Given the description of an element on the screen output the (x, y) to click on. 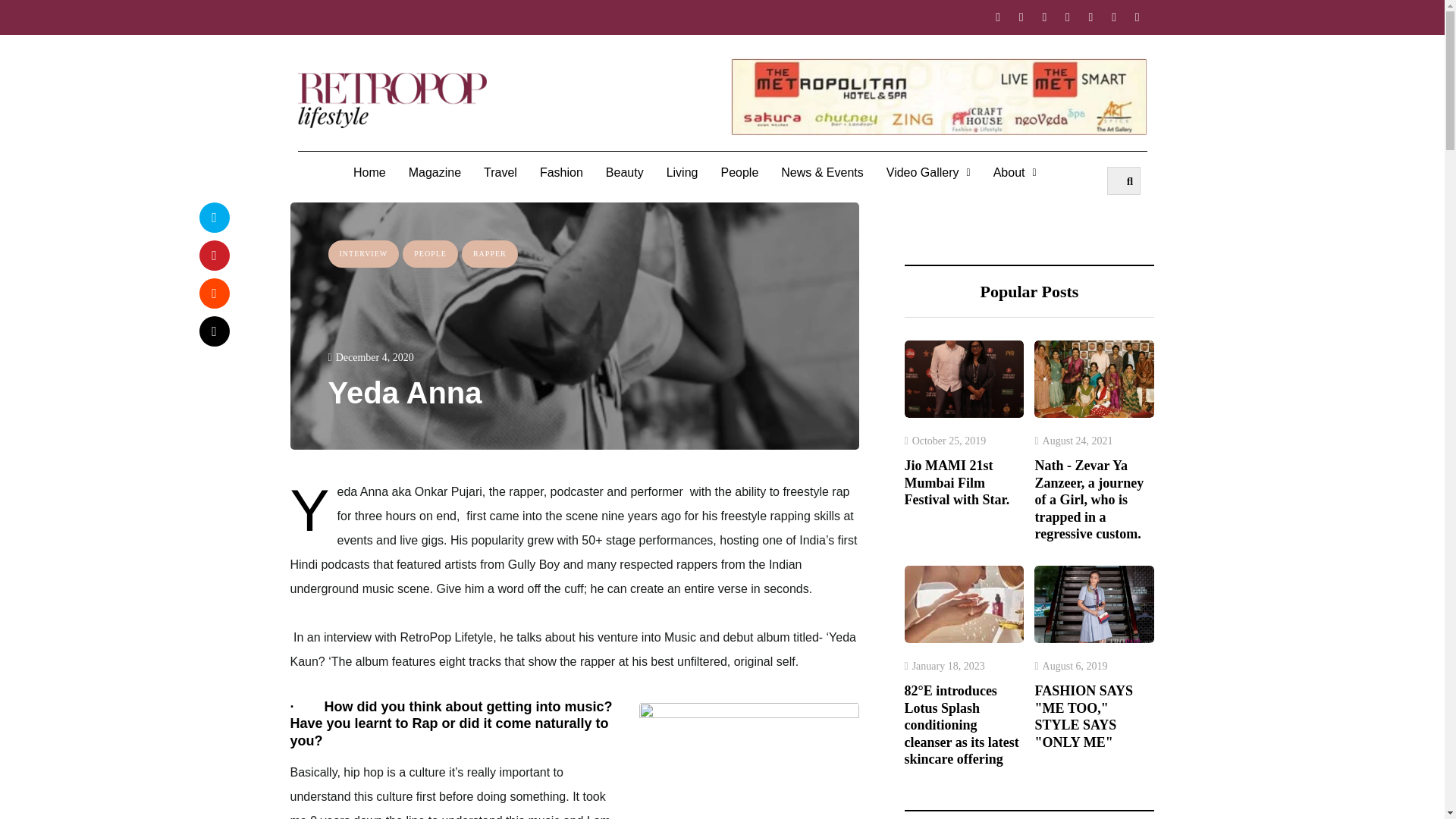
People (739, 173)
Beauty (624, 173)
Living (682, 173)
About (1014, 173)
Magazine (434, 173)
Search (1123, 180)
Fashion (561, 173)
Video Gallery (928, 173)
Share by Email (213, 330)
Home (369, 173)
